Given the description of an element on the screen output the (x, y) to click on. 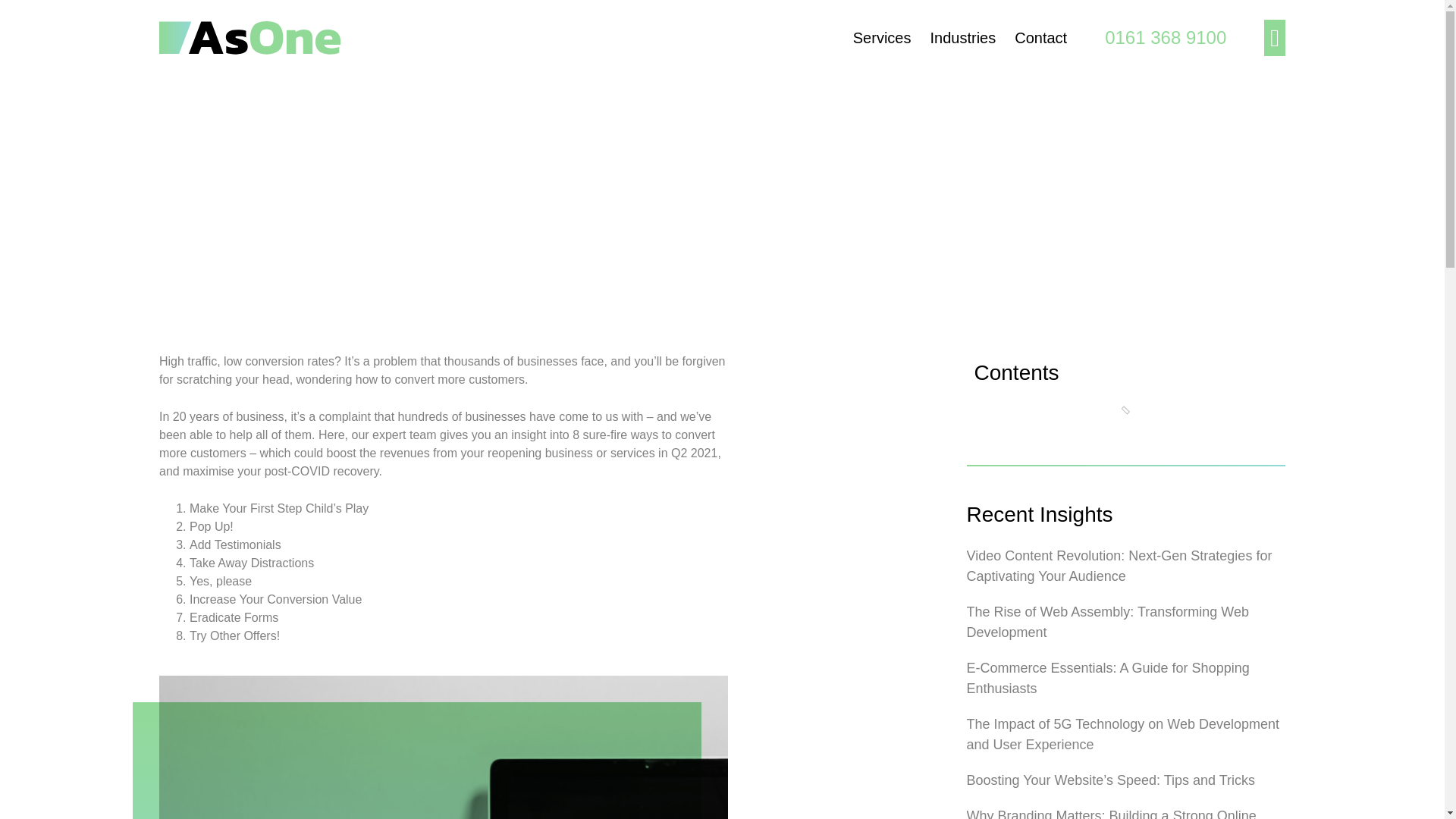
Services (882, 26)
Industries (962, 26)
Contact (1040, 26)
